Given the description of an element on the screen output the (x, y) to click on. 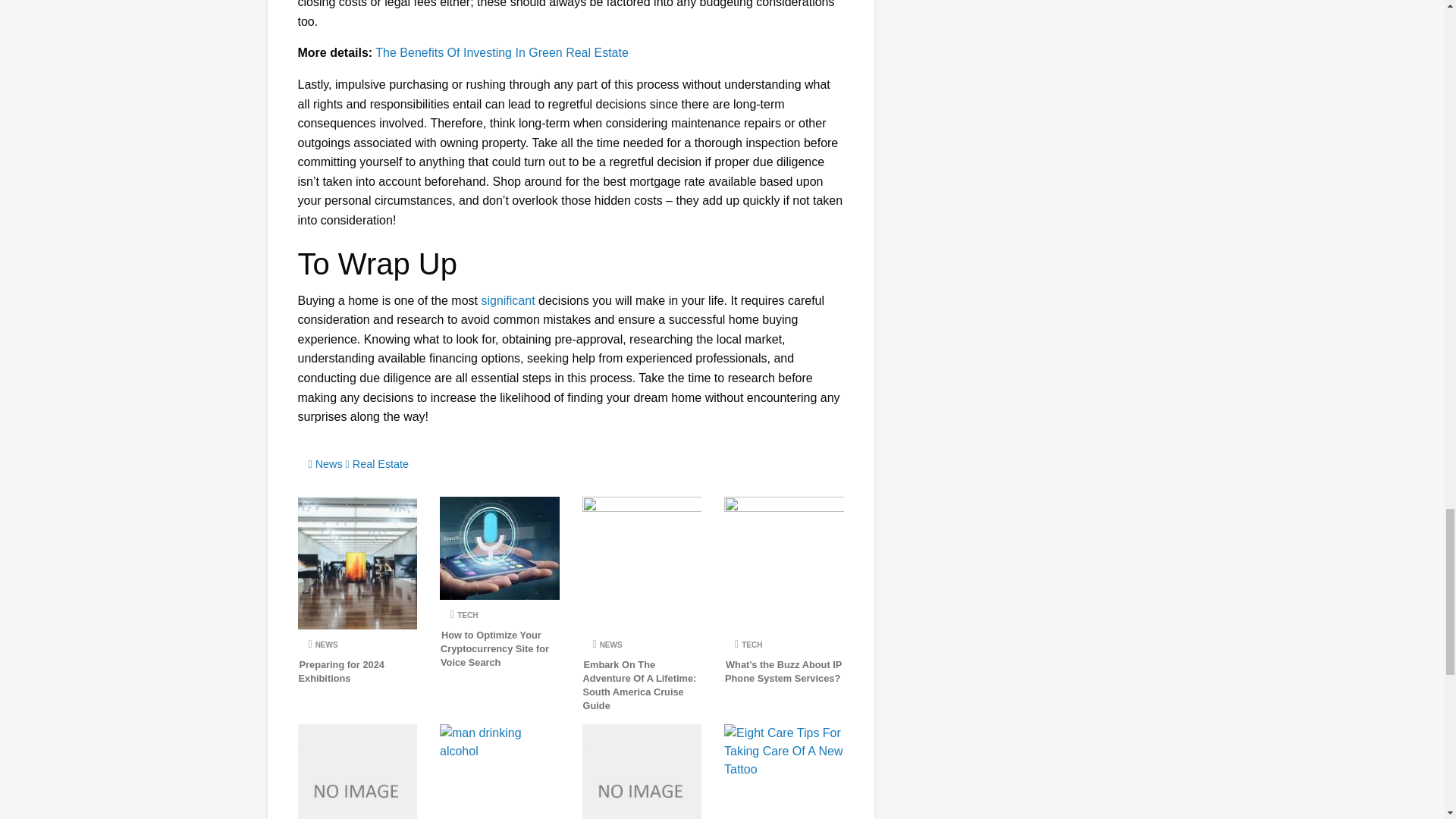
NEWS (606, 644)
significant (507, 300)
The Benefits Of Investing In Green Real Estate (501, 51)
TECH (461, 614)
Preparing for 2024 Exhibitions (341, 671)
How to Optimize Your Cryptocurrency Site for Voice Search (494, 648)
NEWS (320, 644)
How to Optimize Your Cryptocurrency Site for Voice Search (494, 648)
